Given the description of an element on the screen output the (x, y) to click on. 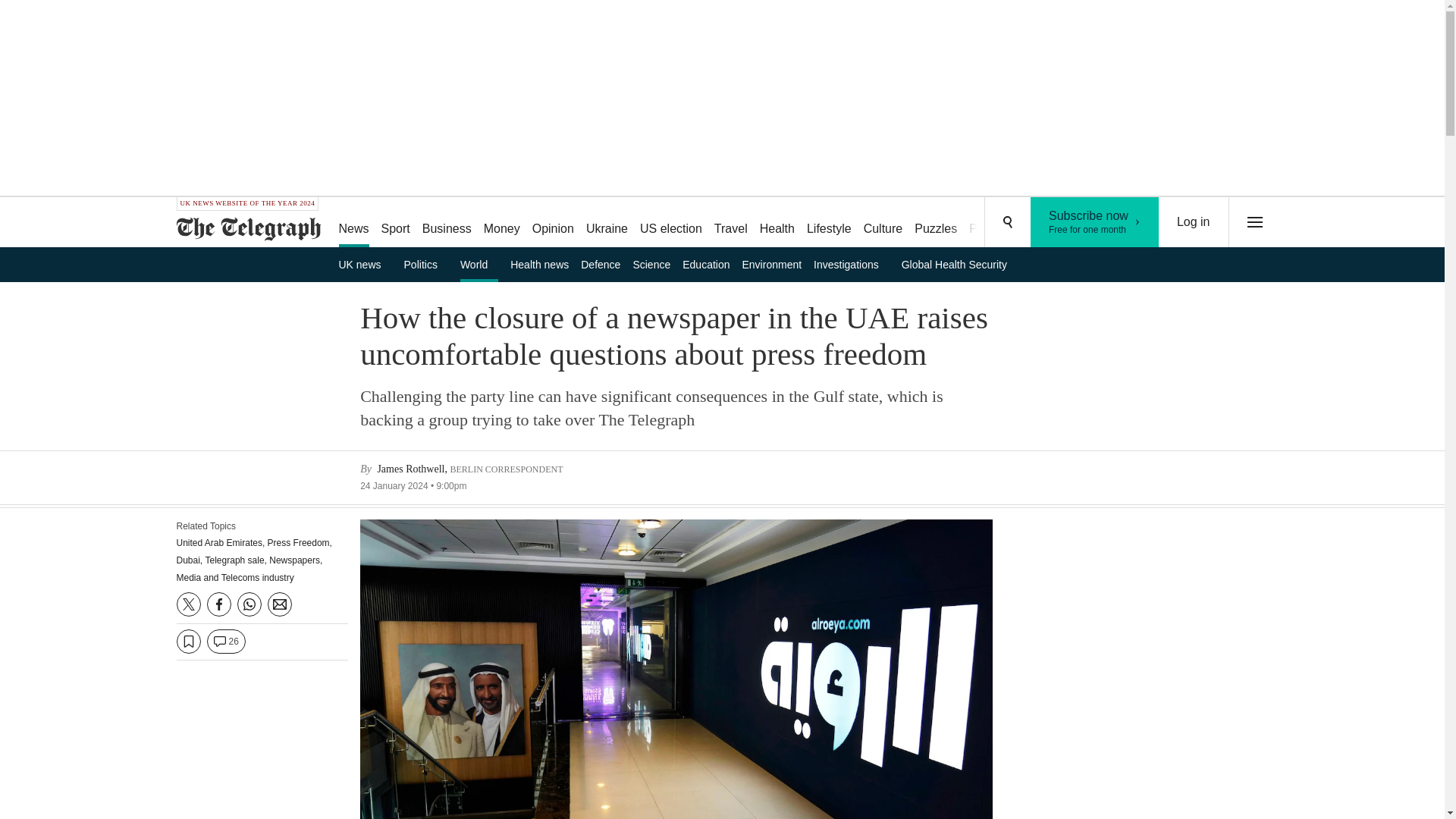
Health (777, 223)
Ukraine (606, 223)
Politics (425, 264)
Puzzles (935, 223)
Business (446, 223)
Log in (1094, 222)
Money (1193, 222)
World (501, 223)
Travel (478, 264)
Podcasts (730, 223)
Opinion (993, 223)
Culture (552, 223)
US election (882, 223)
Lifestyle (670, 223)
